Given the description of an element on the screen output the (x, y) to click on. 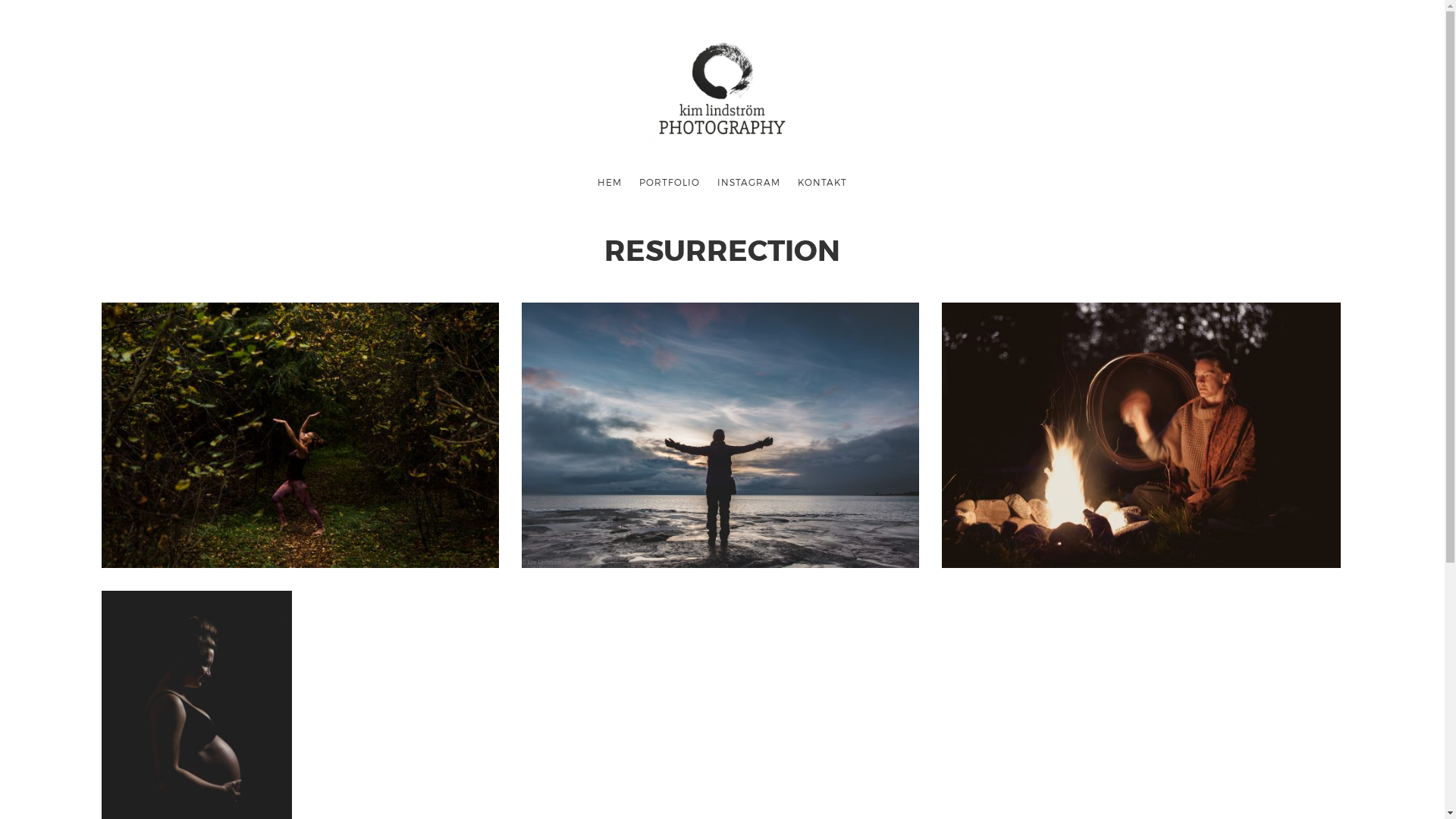
INSTAGRAM Element type: text (748, 182)
Fire feelings Element type: hover (1140, 434)
HEM Element type: text (608, 182)
PORTFOLIO Element type: text (668, 182)
KONTAKT Element type: text (822, 182)
balancedwoman Element type: hover (720, 434)
wildwoman Element type: hover (299, 434)
